Given the description of an element on the screen output the (x, y) to click on. 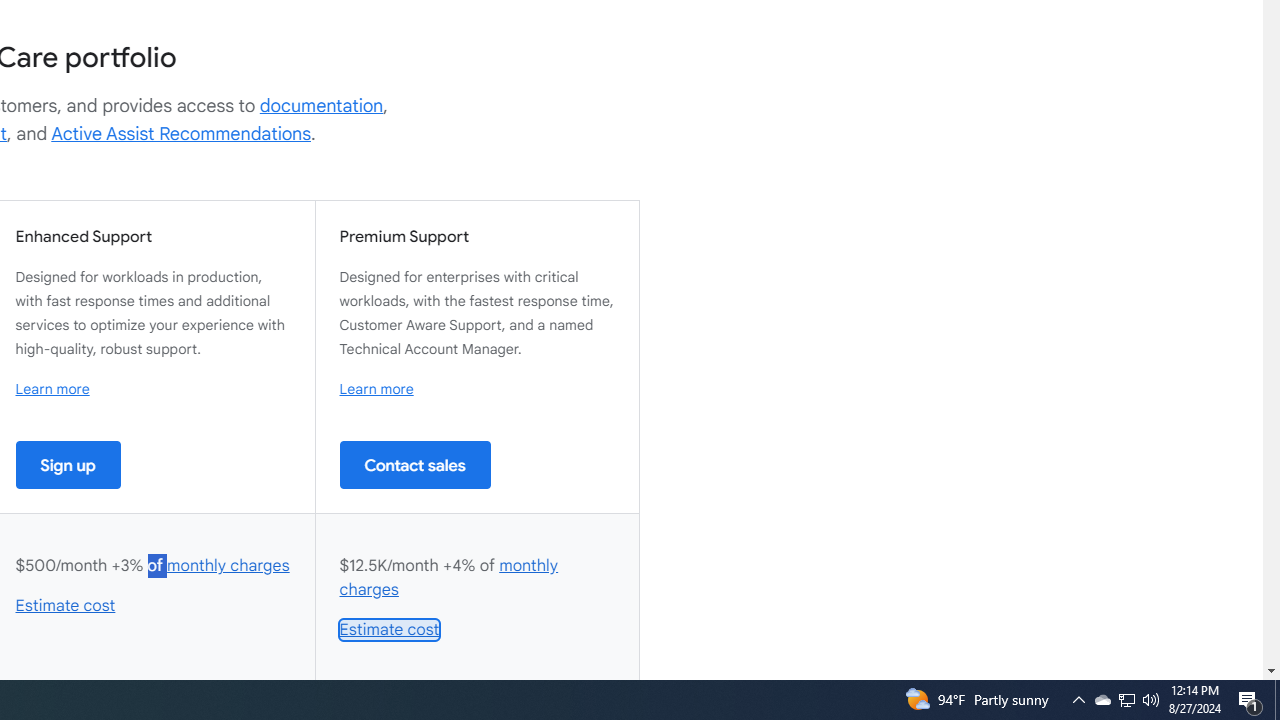
Sign up (68, 464)
documentation (321, 105)
Active Assist Recommendations (181, 133)
Learn more (376, 389)
Estimate cost (389, 629)
Contact sales (415, 464)
monthly charges (449, 577)
